Given the description of an element on the screen output the (x, y) to click on. 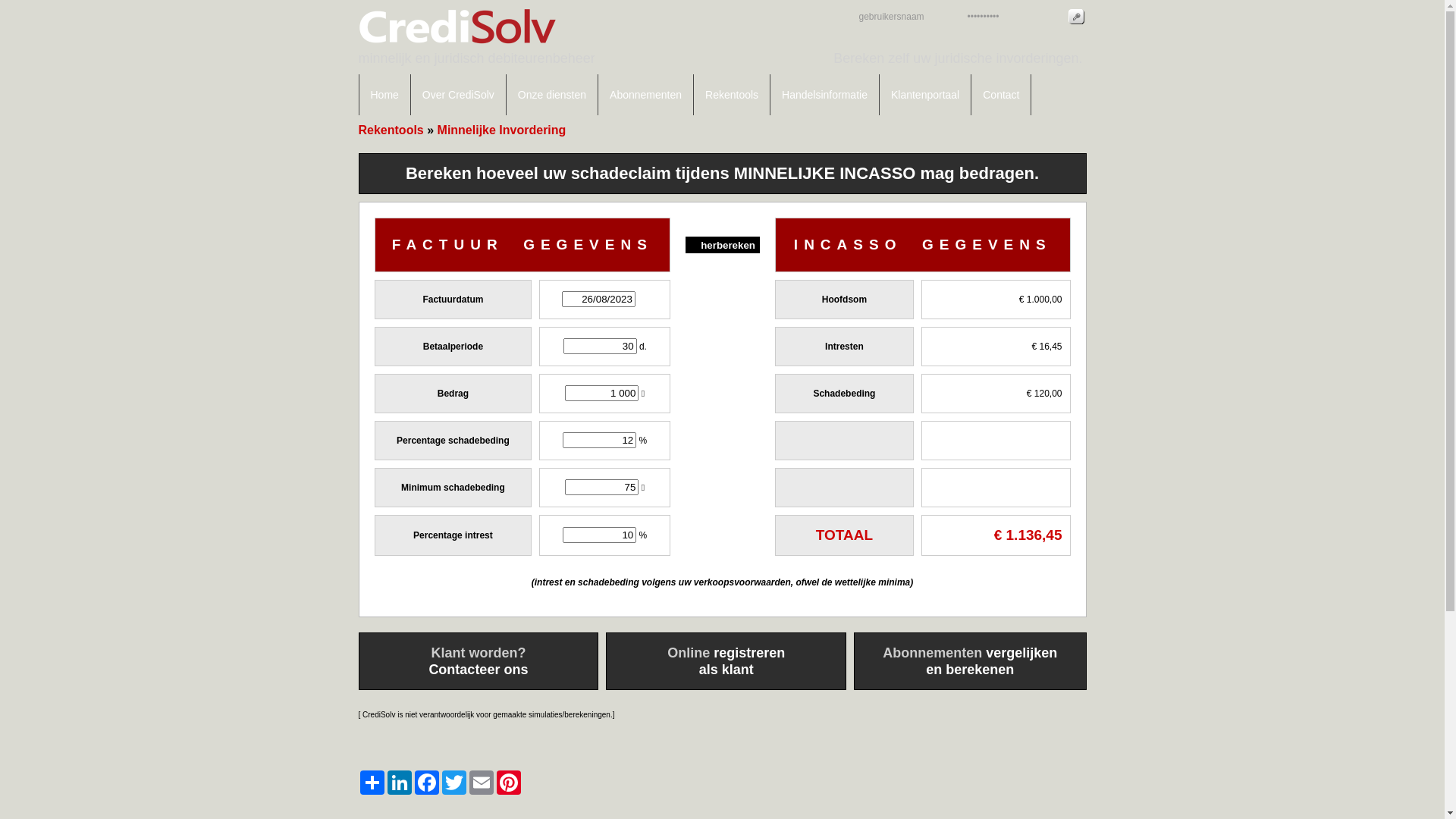
Abonnementen vergelijken
en berekenen Element type: text (969, 661)
Facebook Element type: text (425, 782)
Abonnementen Element type: text (645, 94)
Handelsinformatie Element type: text (824, 94)
Rekentools Element type: text (390, 129)
Twitter Element type: text (453, 782)
Contact Element type: text (1001, 94)
Inloggen Element type: hover (1075, 16)
Bereken zelf uw juridische invorderingen. Element type: text (957, 57)
Online registreren
als klant Element type: text (725, 661)
Klant worden?
Contacteer ons Element type: text (477, 661)
Minnelijke Invordering Element type: text (501, 129)
CrediSolv Element type: hover (479, 70)
Home Element type: text (383, 94)
Klantenportaal Element type: text (925, 94)
herbereken Element type: text (722, 244)
LinkedIn Element type: text (398, 782)
Over CrediSolv Element type: text (458, 94)
wachtwoord Element type: text (1011, 16)
Email Element type: text (480, 782)
Onze diensten Element type: text (552, 94)
Pinterest Element type: text (507, 782)
Share Element type: text (371, 782)
gebruikersnaam Element type: text (901, 16)
Rekentools Element type: text (731, 94)
